Given the description of an element on the screen output the (x, y) to click on. 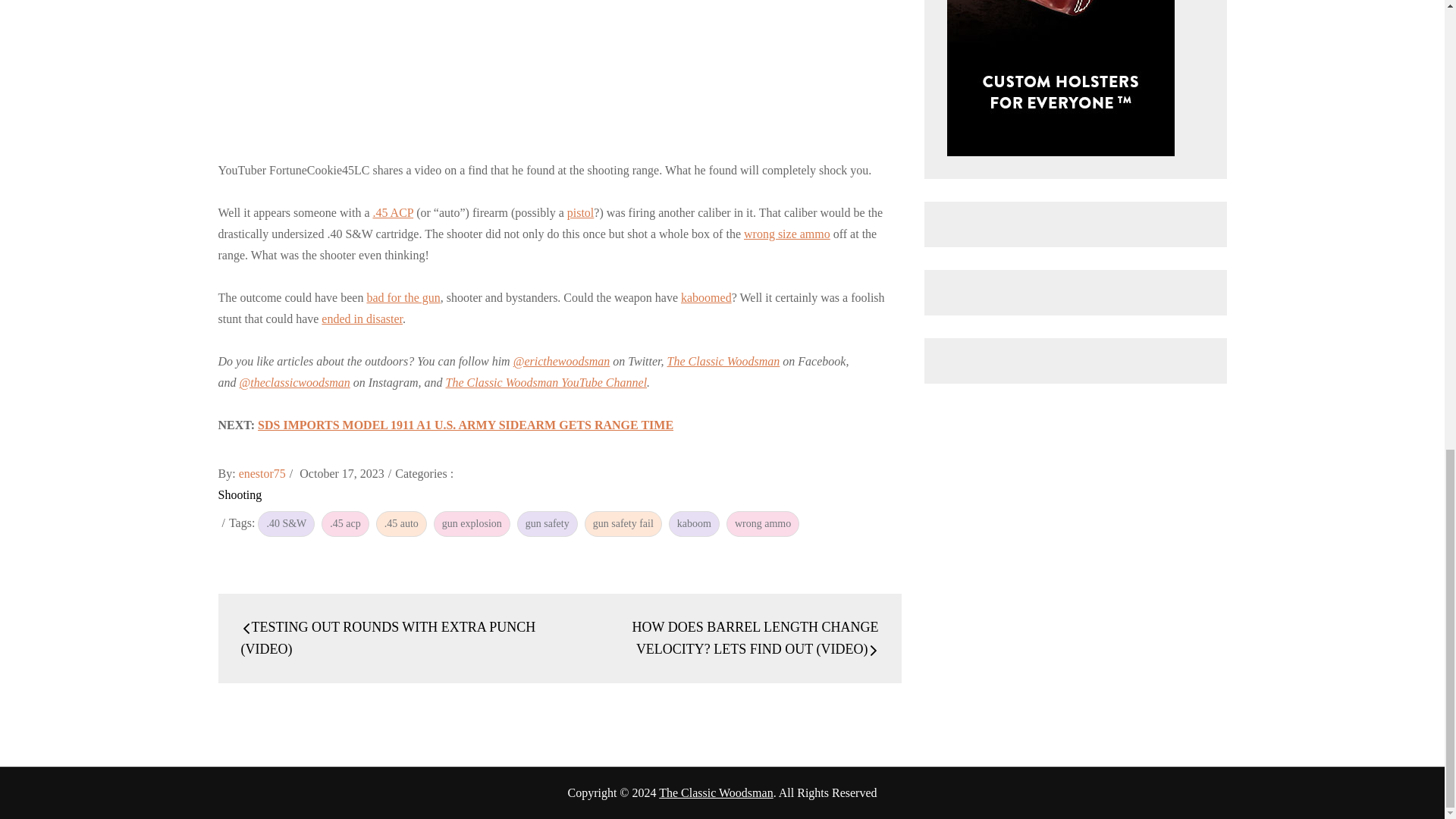
The Classic Woodsman (723, 360)
.45 acp (344, 524)
bad for the gun (402, 297)
Shooting (240, 494)
ended in disaster (362, 318)
gun safety (547, 524)
kaboomed (706, 297)
.45 ACP (392, 212)
.45 auto (400, 524)
pistol (580, 212)
wrong size ammo (786, 233)
wrong ammo (762, 524)
October 17, 2023 (341, 472)
enestor75 (261, 472)
The Classic Woodsman (716, 792)
